Given the description of an element on the screen output the (x, y) to click on. 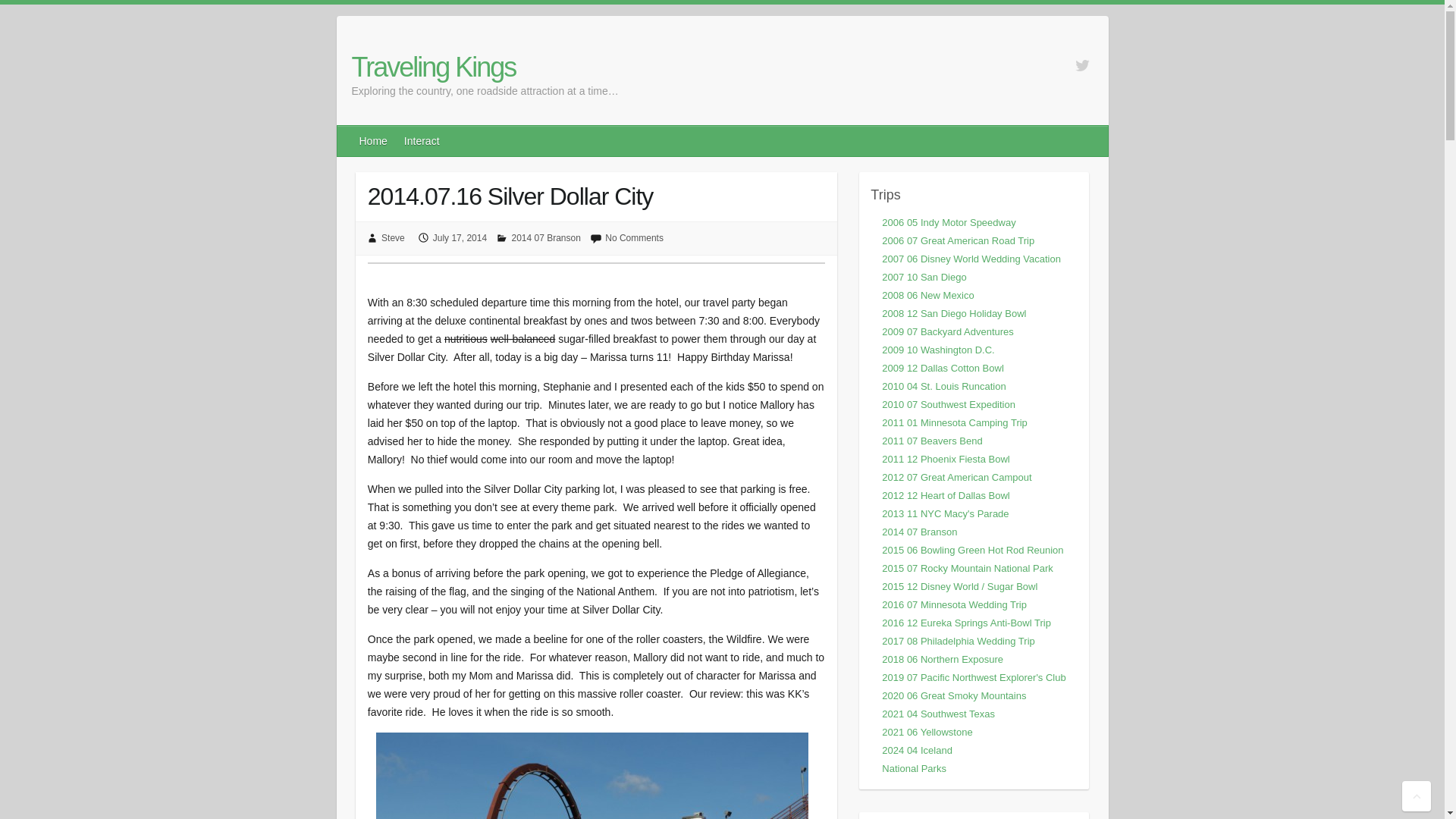
2010 07 Southwest Expedition (948, 404)
Steve (392, 237)
No Comments (634, 237)
Traveling Kings on Twitter (1082, 65)
2011 01 Minnesota Camping Trip (954, 422)
2008 12 San Diego Holiday Bowl (954, 313)
Traveling Kings (485, 67)
July 17, 2014 (459, 237)
2006 05 Indy Motor Speedway (948, 222)
2009 10 Washington D.C. (938, 349)
2009 07 Backyard Adventures (947, 331)
2009 12 Dallas Cotton Bowl (942, 367)
2007 10 San Diego (924, 276)
2008 06 New Mexico (928, 295)
2011 07 Beavers Bend (931, 440)
